Given the description of an element on the screen output the (x, y) to click on. 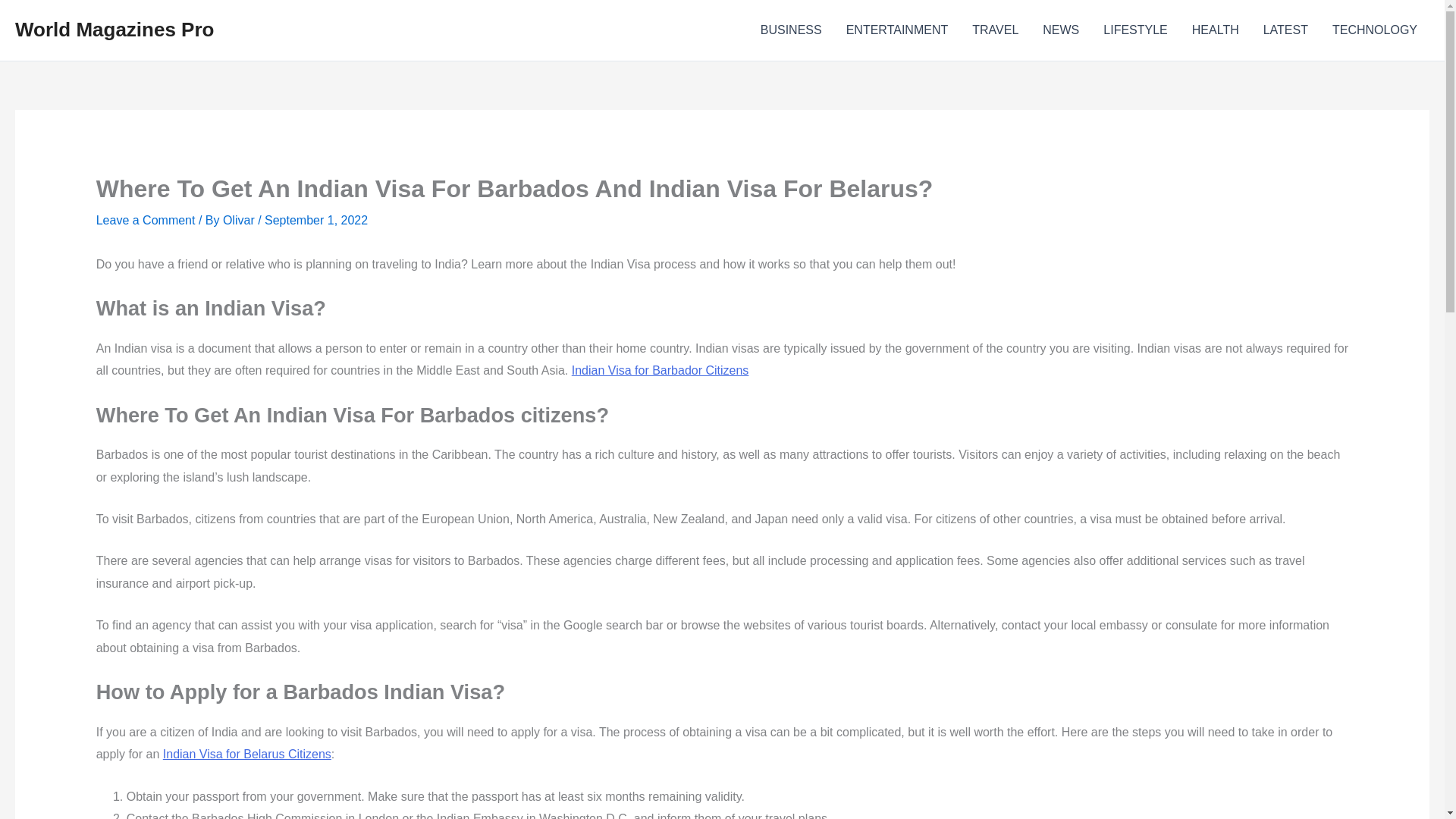
TRAVEL (994, 30)
LATEST (1285, 30)
LIFESTYLE (1134, 30)
Indian Visa for Belarus Citizens (247, 753)
ENTERTAINMENT (897, 30)
Indian Visa for Barbador Citizens (660, 369)
Olivar (239, 219)
World Magazines Pro (114, 29)
HEALTH (1214, 30)
TECHNOLOGY (1374, 30)
